Given the description of an element on the screen output the (x, y) to click on. 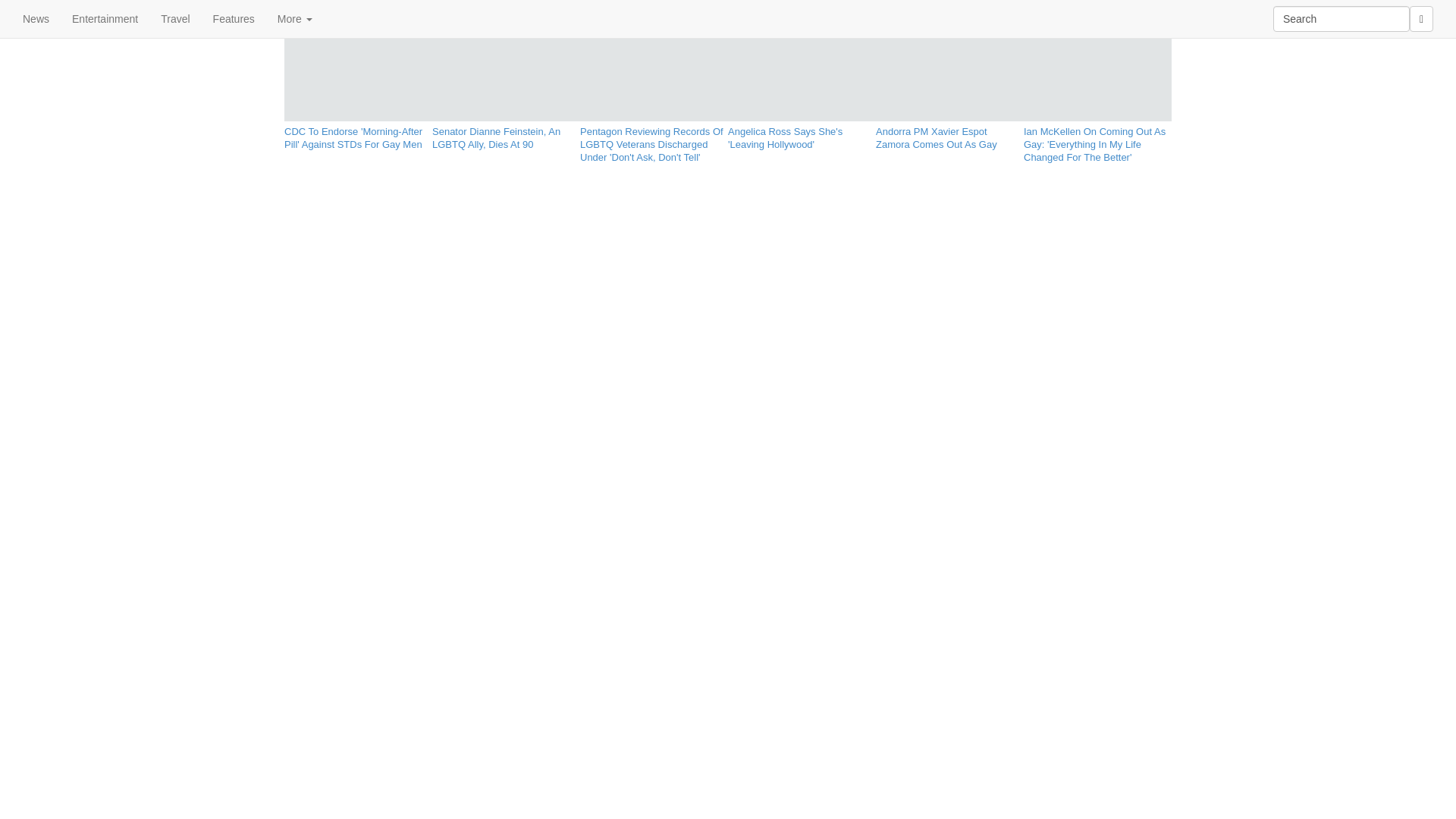
Andorra PM Xavier Espot Zamora Comes Out As Gay (949, 135)
Senator Dianne Feinstein, An LGBTQ Ally, Dies At 90 (505, 135)
News (36, 18)
Entertainment (105, 18)
More (294, 18)
Travel (174, 18)
Angelica Ross Says She's 'Leaving Hollywood' (802, 135)
Features (234, 18)
